Given the description of an element on the screen output the (x, y) to click on. 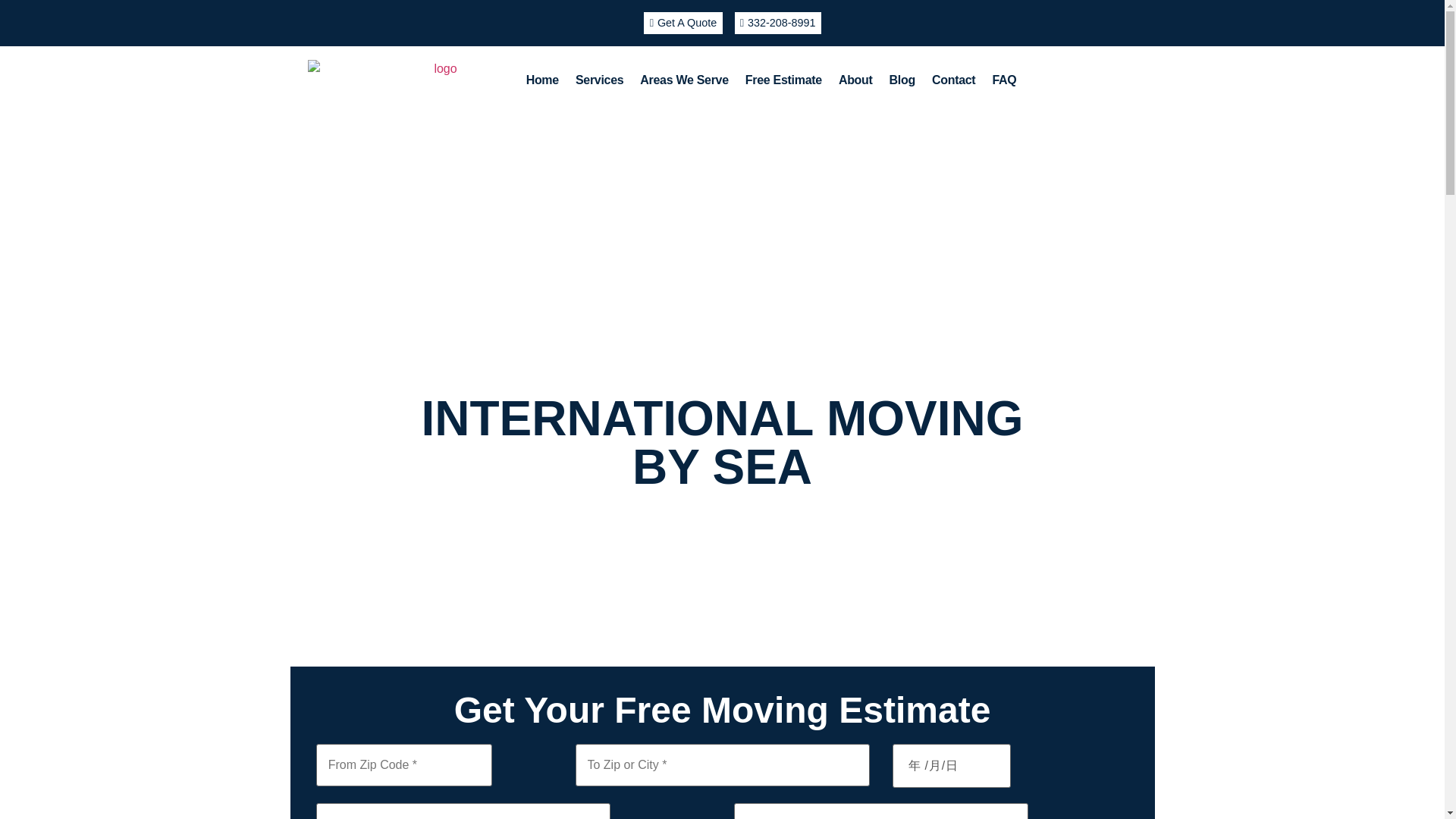
Free Estimate (782, 79)
Areas We Serve (683, 79)
Services (599, 79)
Blog (901, 79)
FAQ (1004, 79)
Contact (953, 79)
About (854, 79)
332-208-8991 (777, 23)
Home (542, 79)
Get A Quote (682, 23)
